Given the description of an element on the screen output the (x, y) to click on. 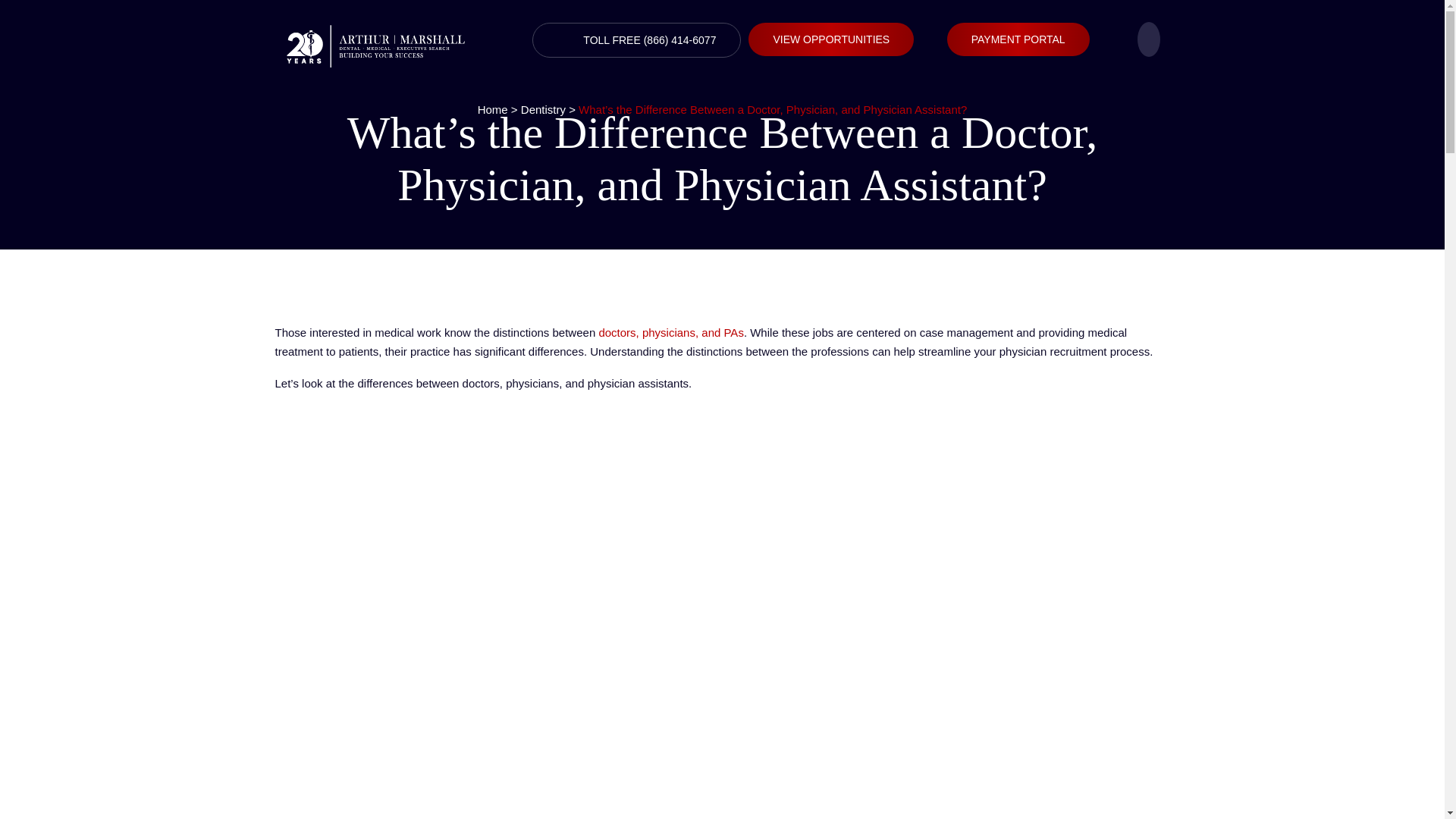
PAYMENT PORTAL (1018, 39)
VIEW OPPORTUNITIES (831, 39)
